Given the description of an element on the screen output the (x, y) to click on. 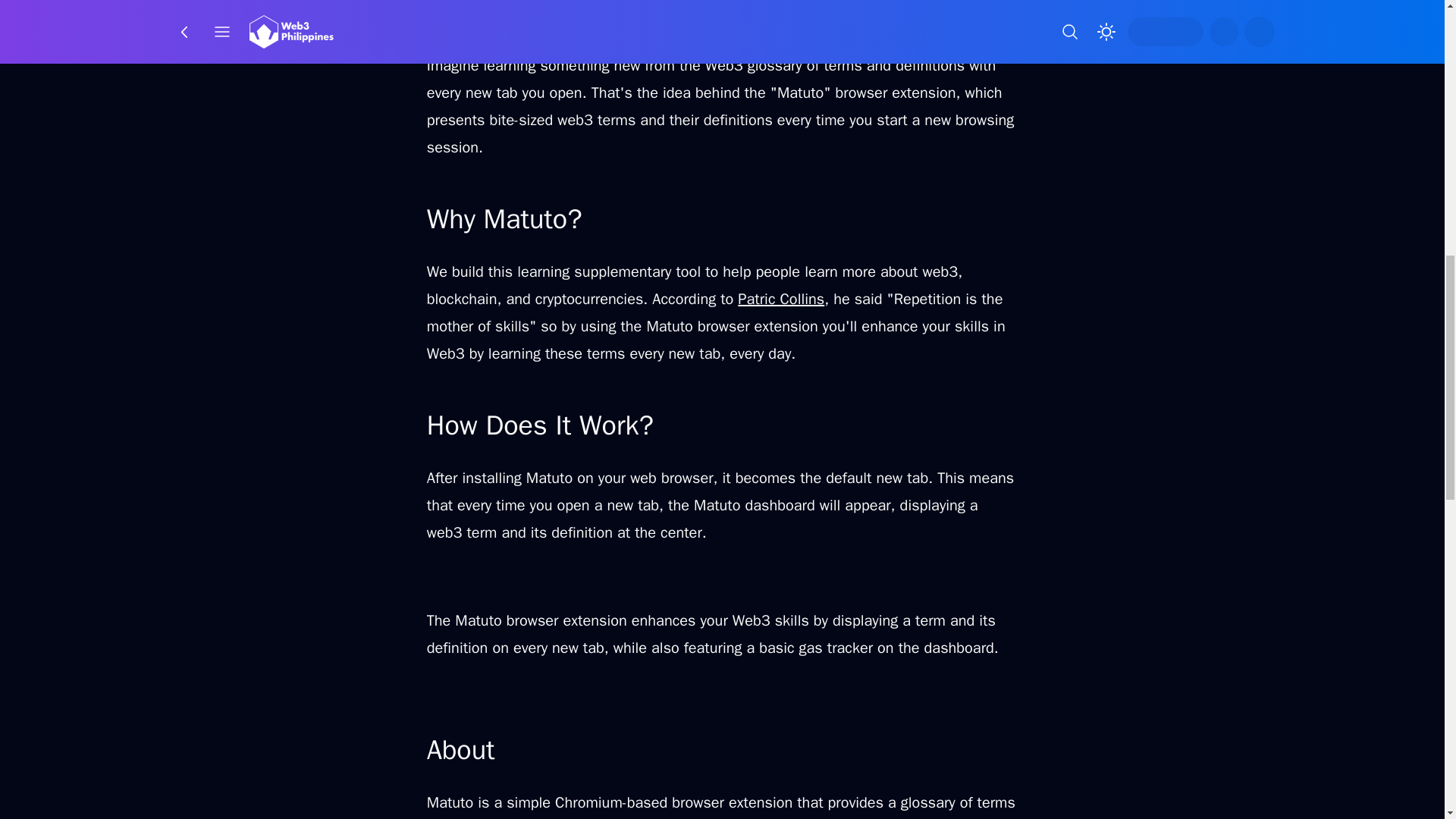
Patric Collins (781, 298)
